Given the description of an element on the screen output the (x, y) to click on. 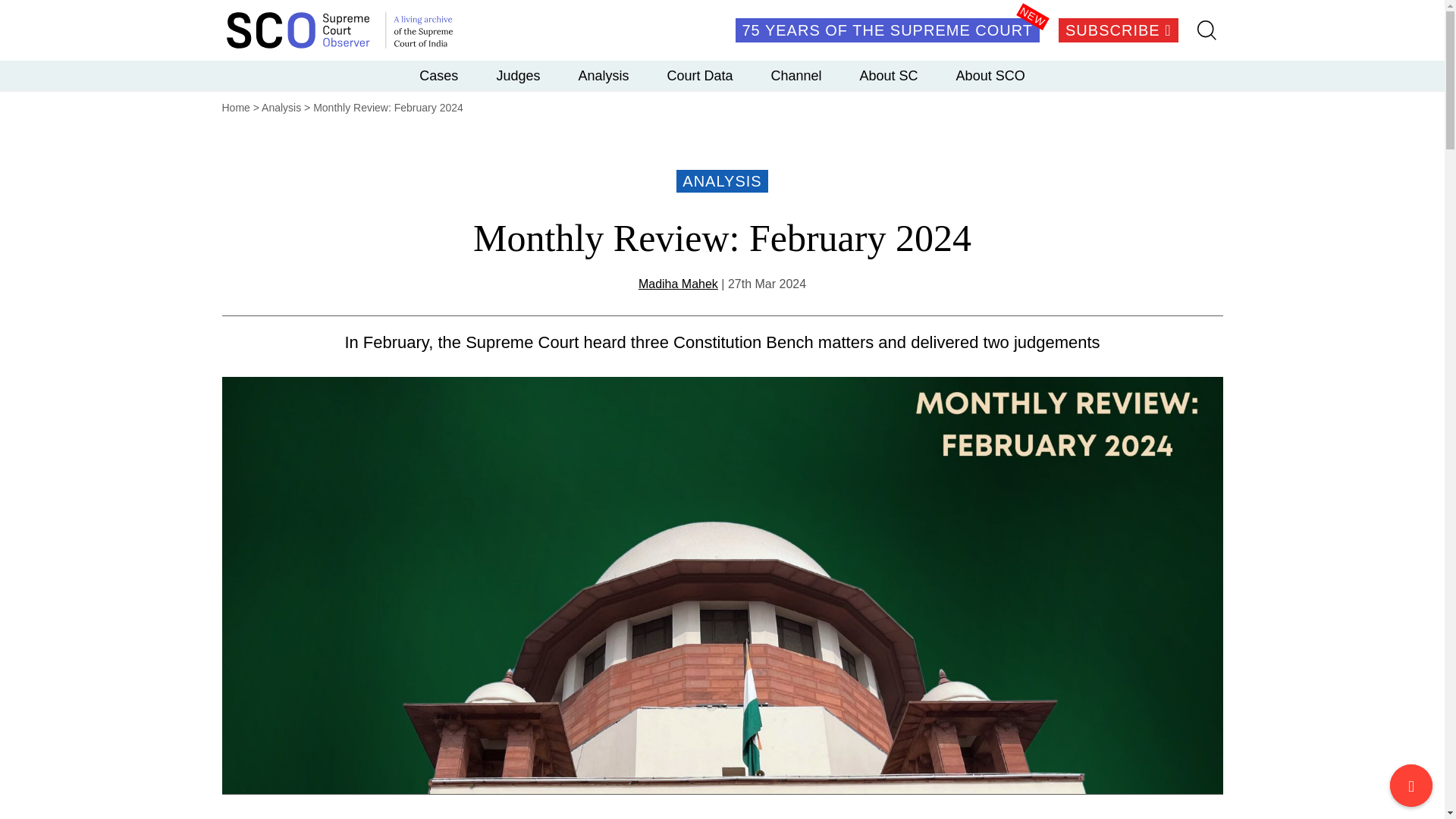
75 YEARS OF THE SUPREME COURT (888, 30)
Home (234, 107)
About SCO (990, 75)
Analysis (603, 75)
Analysis (281, 107)
Cases (438, 75)
Judges (518, 75)
Court Data (699, 75)
Madiha Mahek (678, 283)
SUBSCRIBE (1117, 30)
About SC (889, 75)
Channel (795, 75)
